Given the description of an element on the screen output the (x, y) to click on. 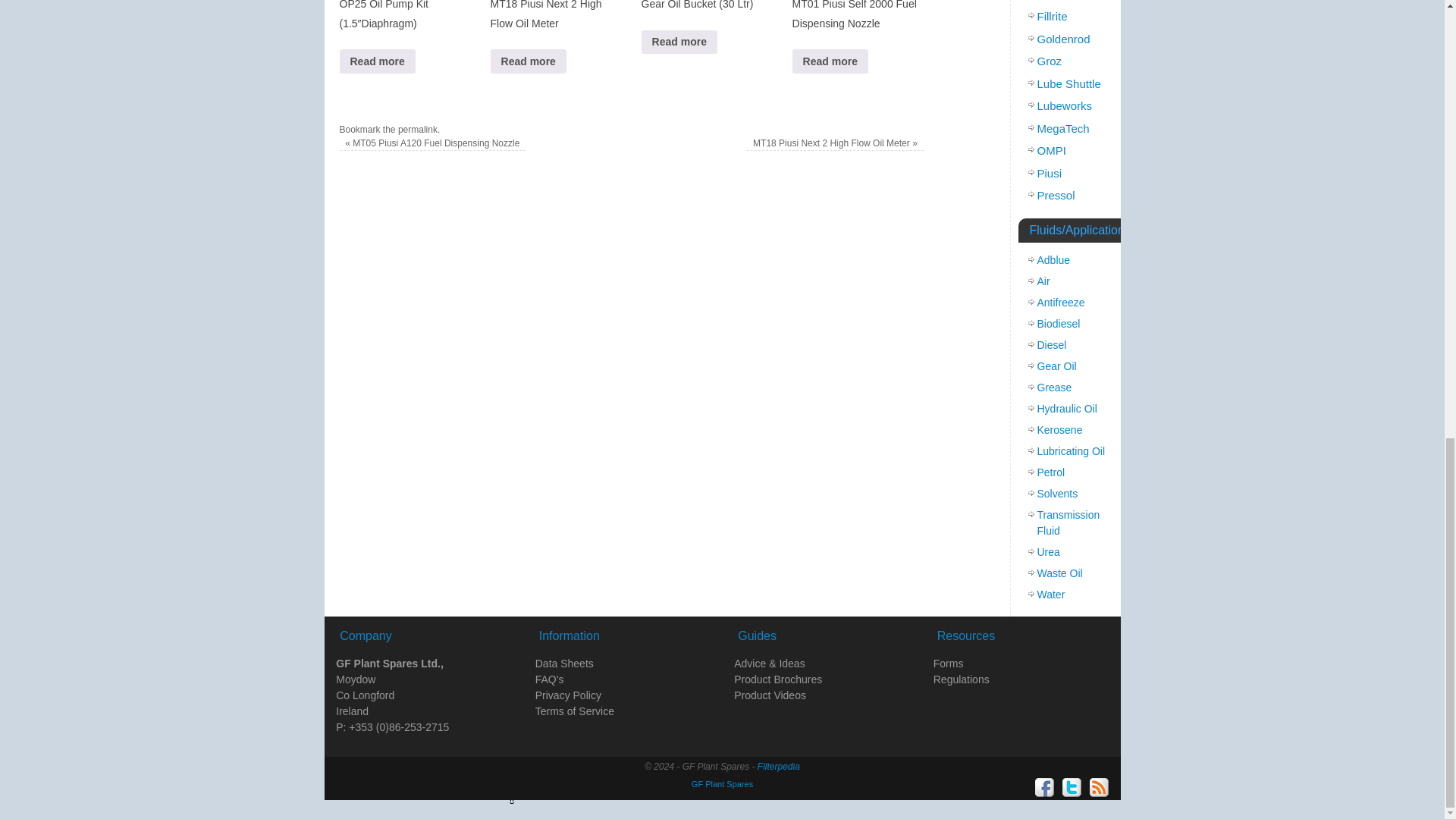
Read more (376, 60)
Read more (679, 42)
permalink (417, 129)
MT18 Piusi Next 2 High Flow Oil Meter (555, 33)
Read more (829, 60)
Read more (528, 60)
Permalink to MT11 Piusi Pistol One Oil Control Gun (417, 129)
10 topics (1064, 105)
MT01 Piusi Self 2000 Fuel Dispensing Nozzle (856, 33)
13 topics (1057, 0)
